Given the description of an element on the screen output the (x, y) to click on. 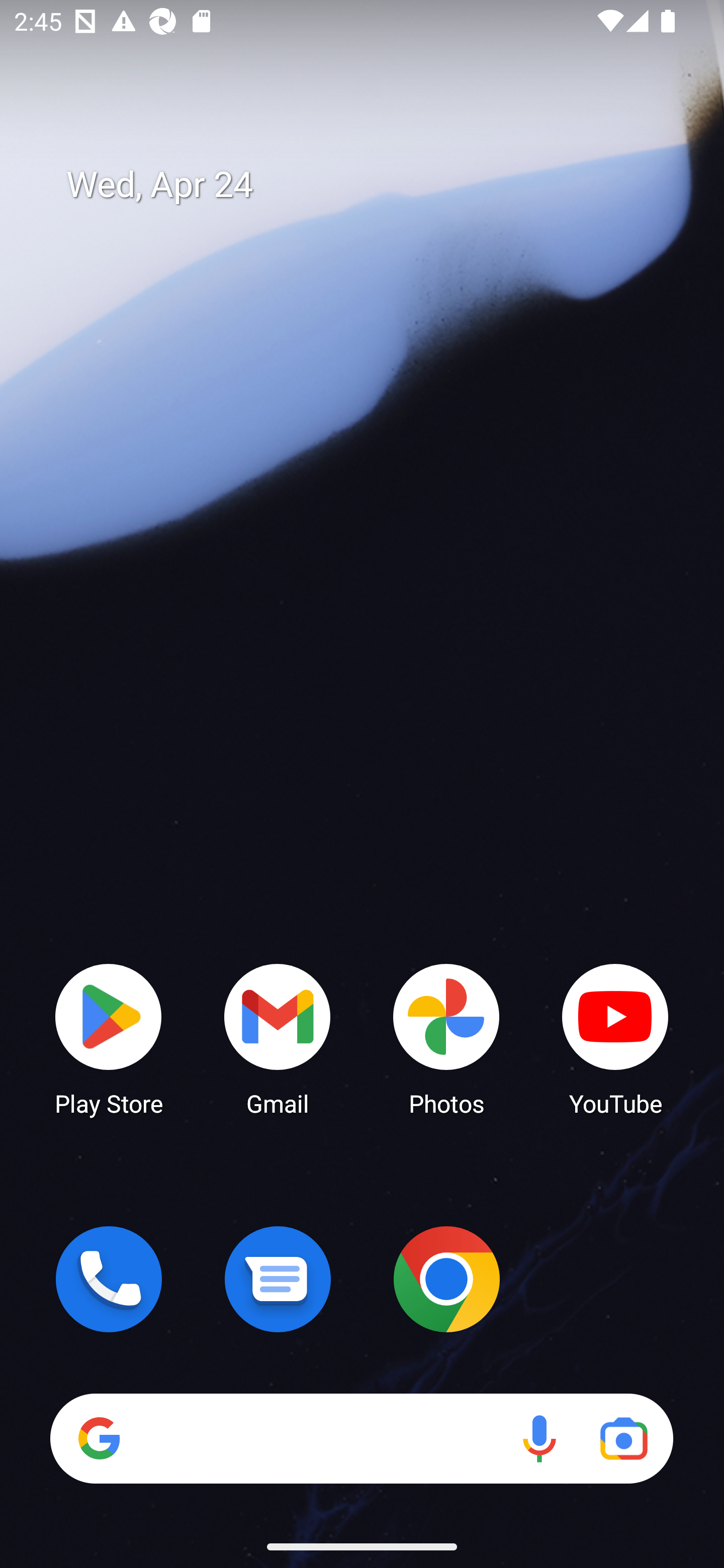
Wed, Apr 24 (375, 184)
Play Store (108, 1038)
Gmail (277, 1038)
Photos (445, 1038)
YouTube (615, 1038)
Phone (108, 1279)
Messages (277, 1279)
Chrome (446, 1279)
Search Voice search Google Lens (361, 1438)
Voice search (539, 1438)
Google Lens (623, 1438)
